Given the description of an element on the screen output the (x, y) to click on. 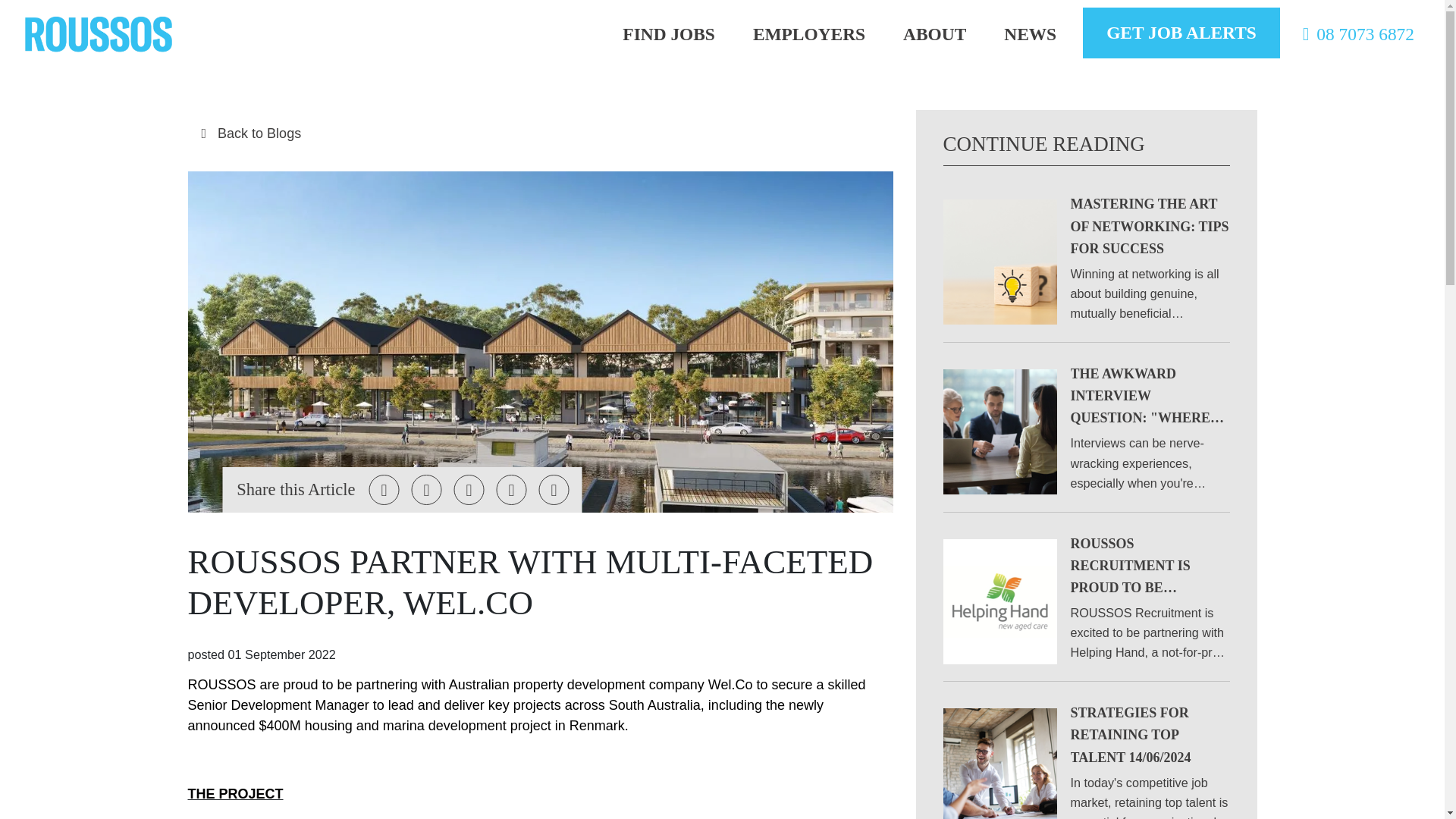
Back to Blogs (540, 133)
NEWS (1030, 34)
Share on LinkedIn (469, 490)
Email (511, 490)
08 7073 6872 (1354, 34)
Go to the Homepage (98, 32)
FIND JOBS (668, 34)
GET JOB ALERTS (1181, 32)
ABOUT (934, 34)
EMPLOYERS (808, 34)
Share on Facebook (427, 490)
Send in Whatsapp (553, 490)
Tweet this (383, 490)
